Given the description of an element on the screen output the (x, y) to click on. 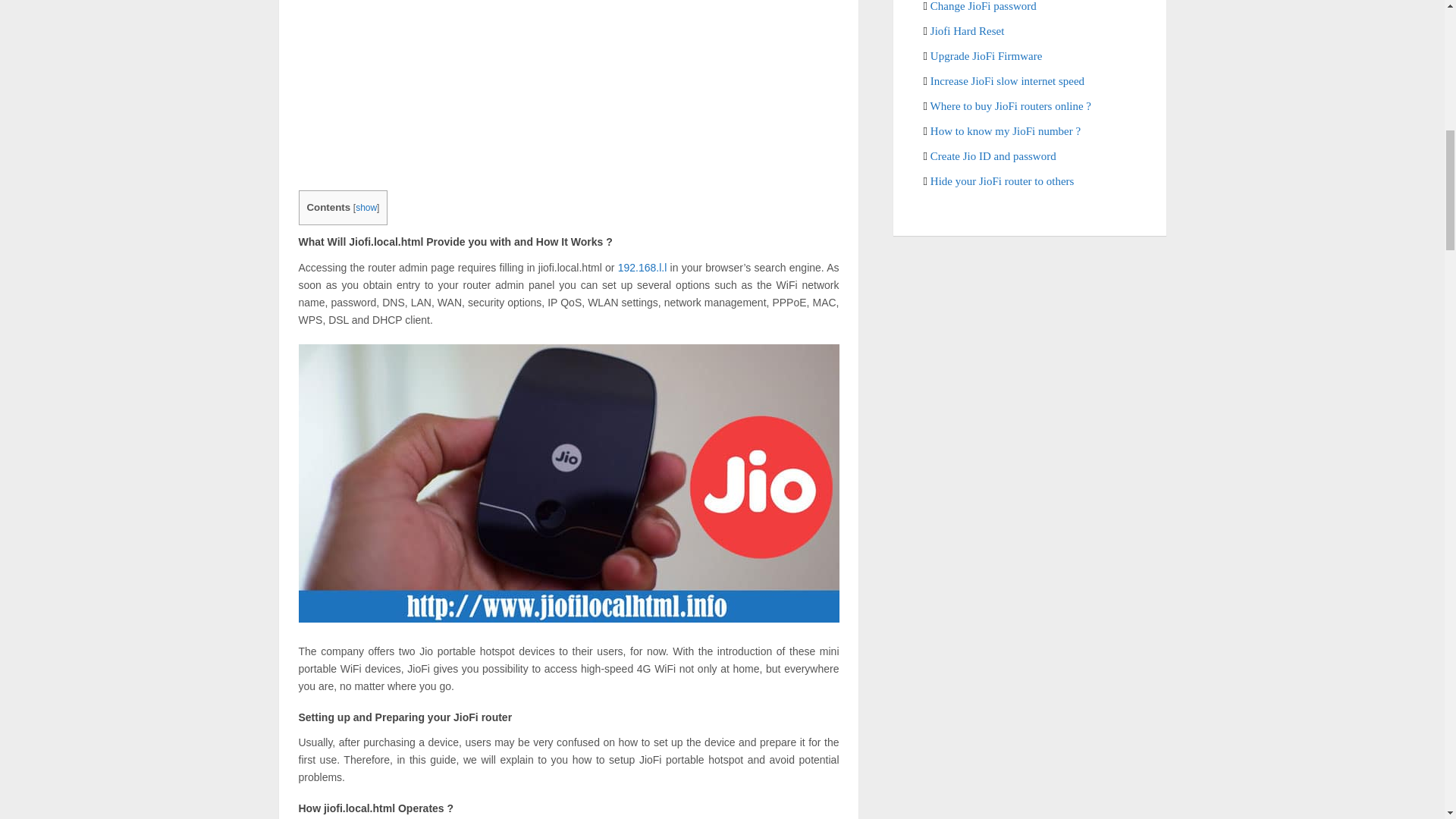
Hide your JioFi router to others (1002, 181)
Change JioFi password (983, 6)
show (366, 207)
Upgrade JioFi Firmware (986, 55)
Jiofi Hard Reset (967, 30)
Increase JioFi slow internet speed (1007, 80)
Where to buy JioFi routers online ? (1010, 105)
Advertisement (569, 84)
Create Jio ID and password (993, 155)
192.168.l.l (641, 267)
How to know my JioFi number ? (1005, 131)
